Given the description of an element on the screen output the (x, y) to click on. 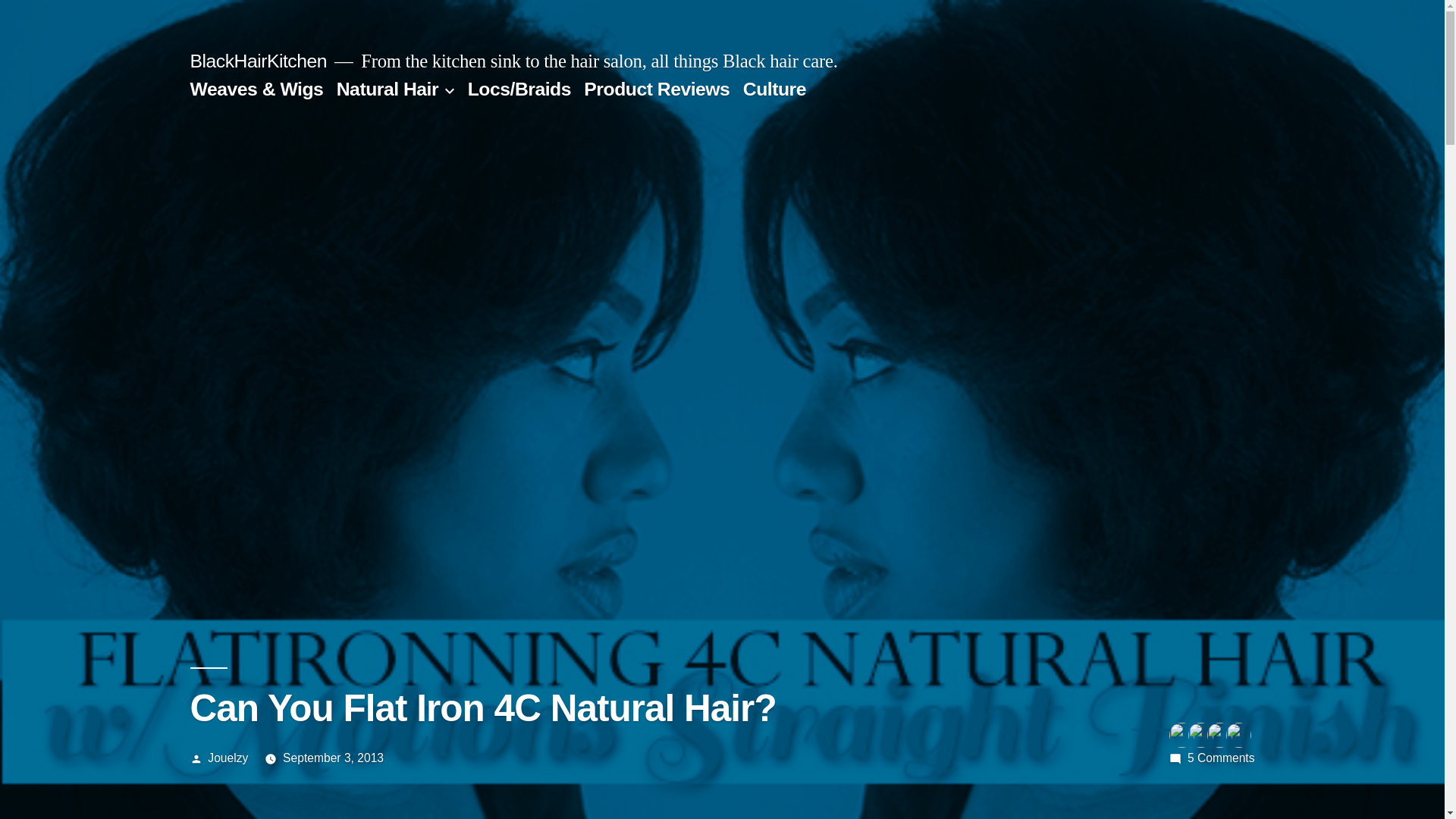
BlackHairKitchen (257, 60)
Jouelzy (227, 757)
Culture (774, 88)
Product Reviews (656, 88)
September 3, 2013 (333, 757)
Natural Hair (1221, 757)
